Given the description of an element on the screen output the (x, y) to click on. 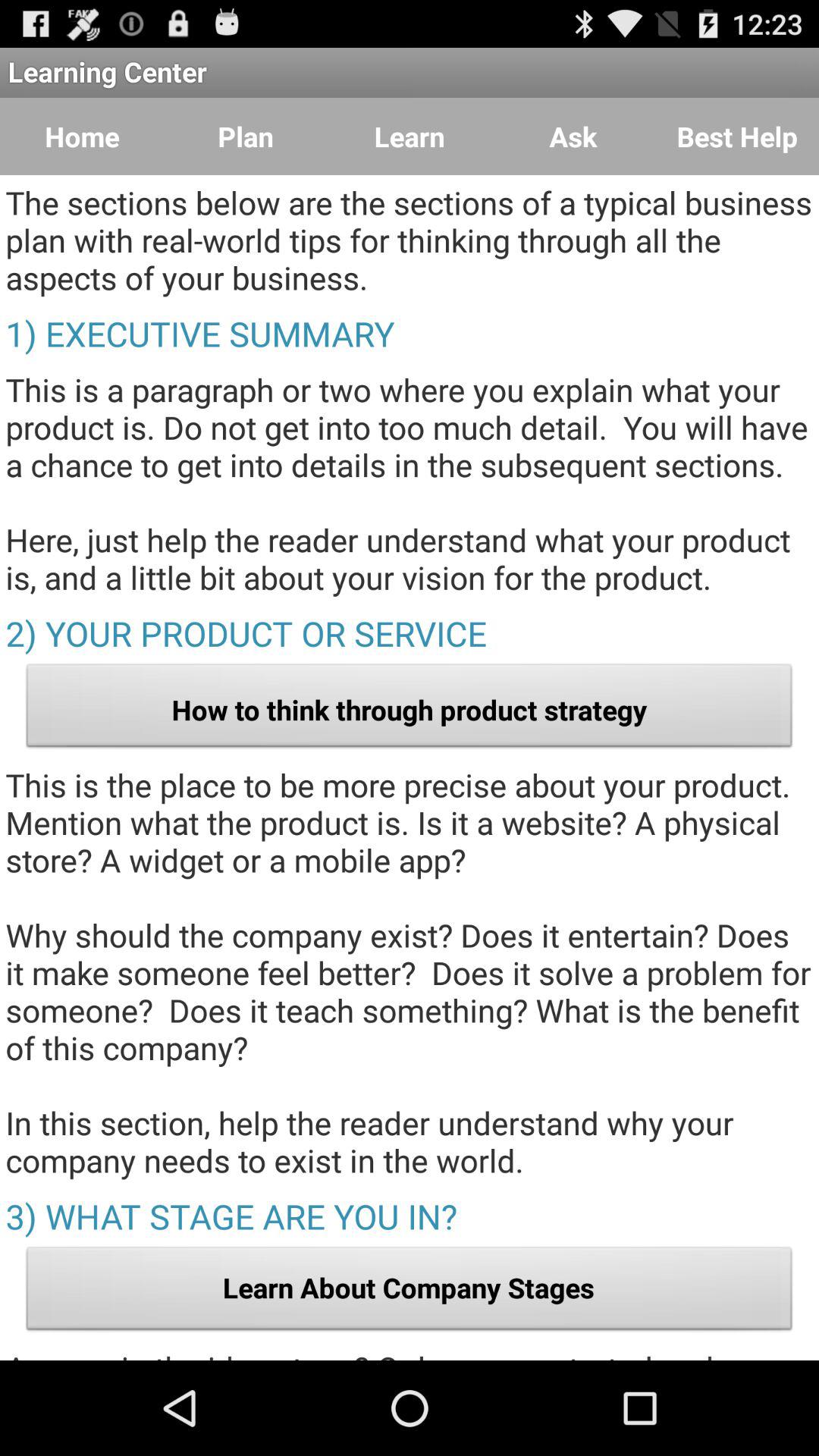
flip to ask icon (573, 136)
